Given the description of an element on the screen output the (x, y) to click on. 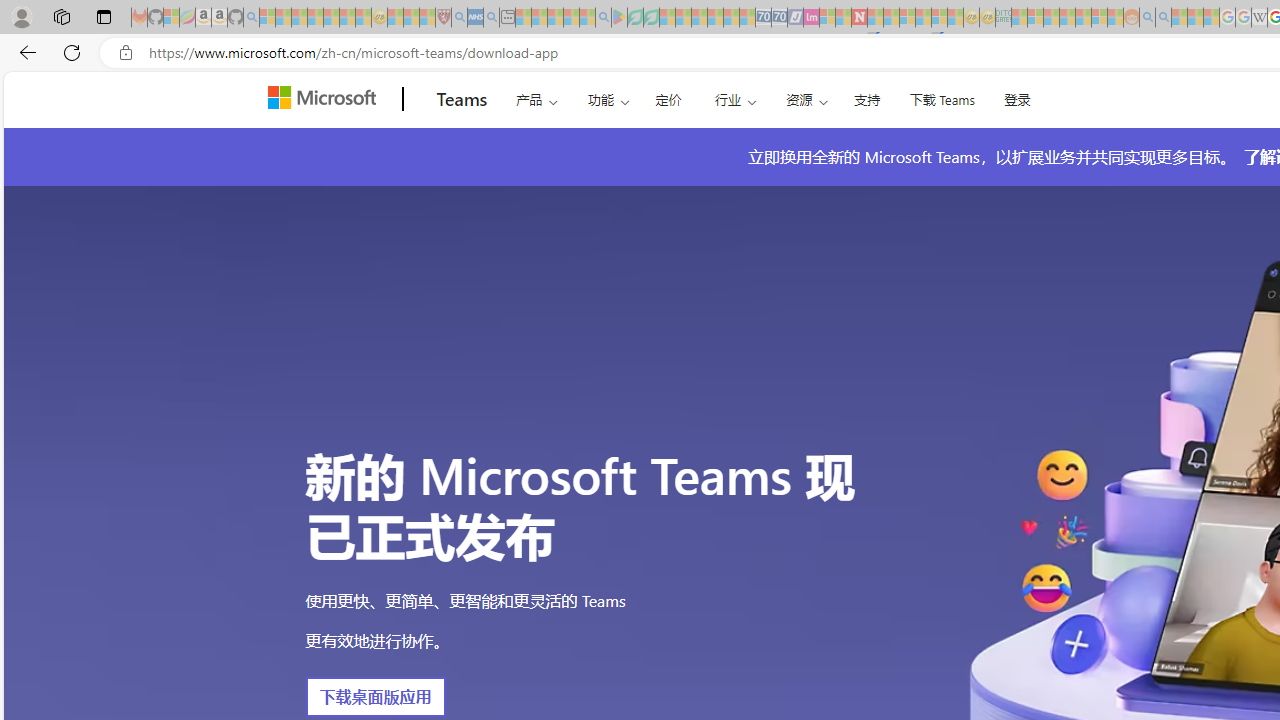
Local - MSN - Sleeping (427, 17)
Latest Politics News & Archive | Newsweek.com - Sleeping (859, 17)
Microsoft (326, 99)
